Given the description of an element on the screen output the (x, y) to click on. 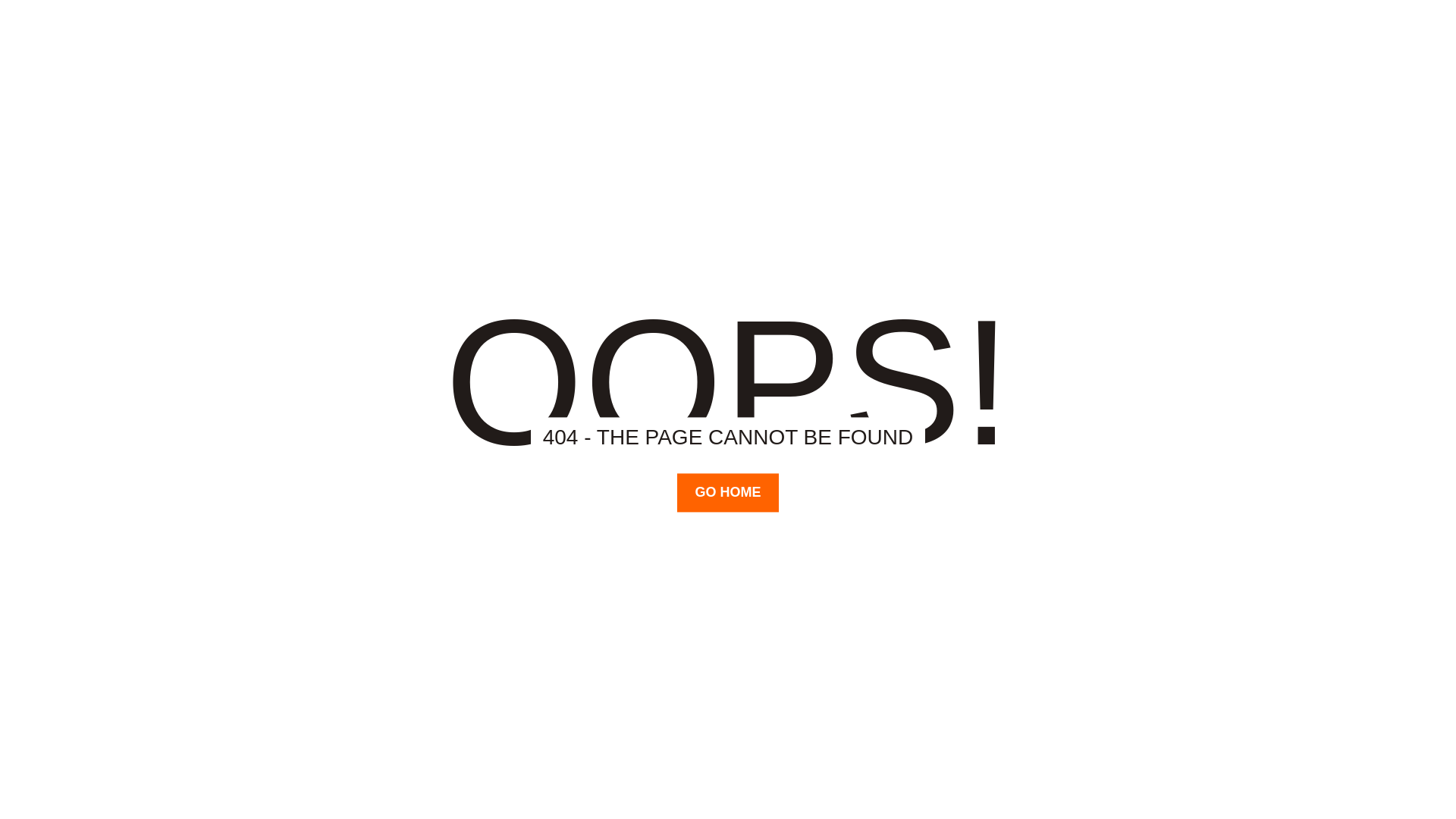
GO HOME Element type: text (727, 492)
